Given the description of an element on the screen output the (x, y) to click on. 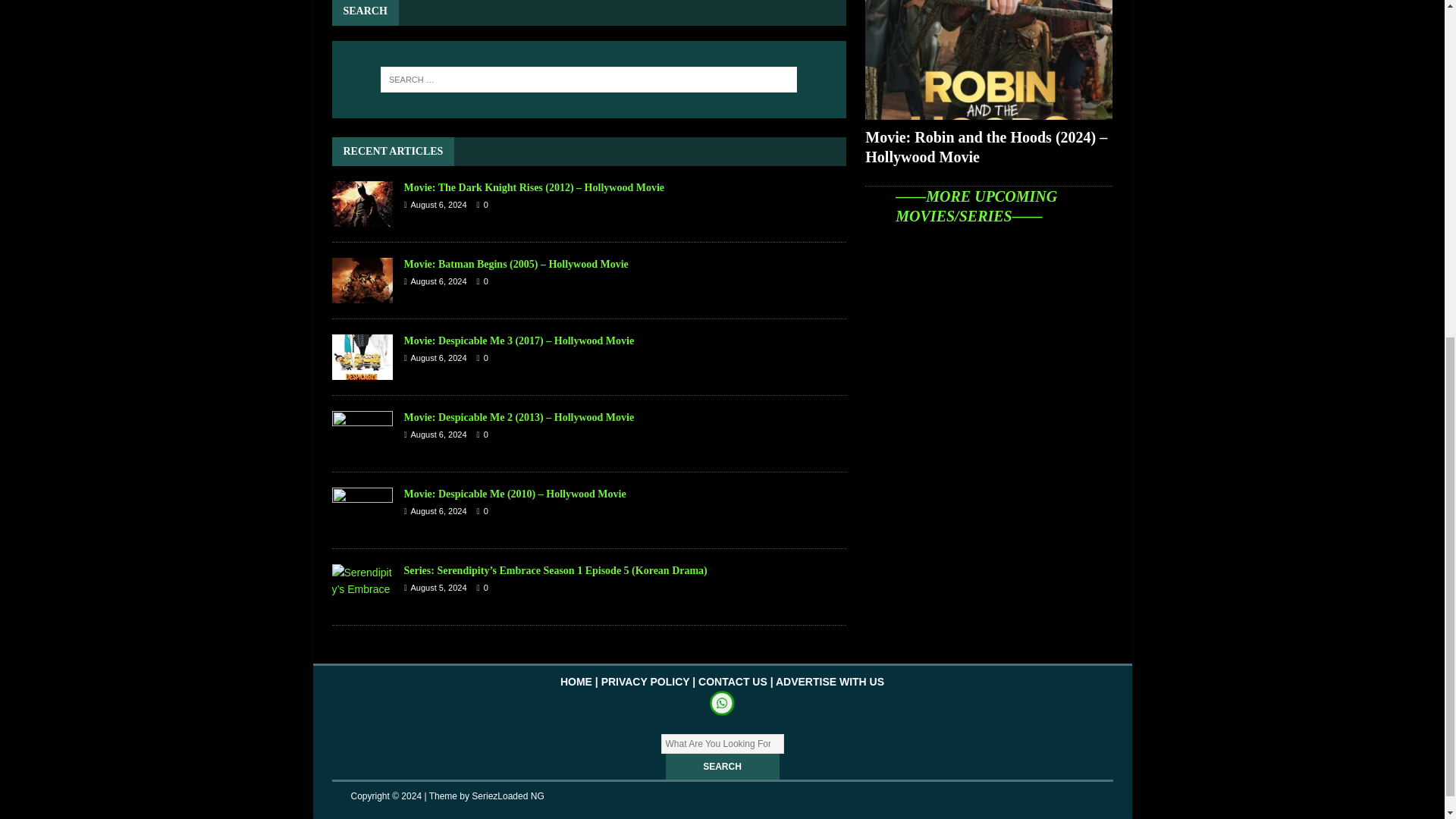
Search (721, 766)
WhatsApp (722, 703)
